Given the description of an element on the screen output the (x, y) to click on. 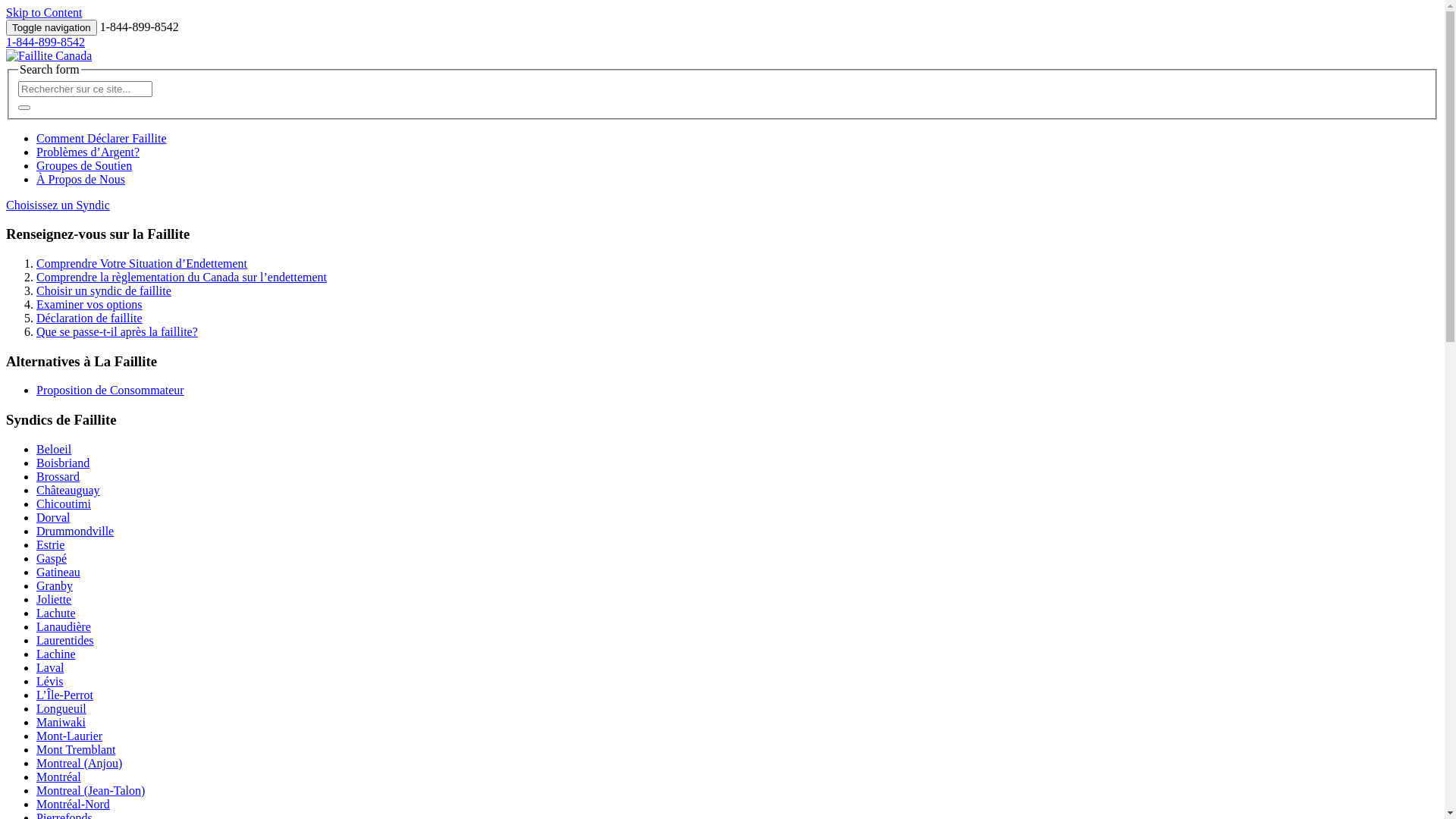
Proposition de Consommateur Element type: text (110, 389)
Laval Element type: text (49, 667)
Choisir un syndic de faillite Element type: text (103, 290)
Mont Tremblant Element type: text (75, 749)
Montreal (Anjou) Element type: text (79, 762)
1-844-899-8542 Element type: text (45, 41)
Lachute Element type: text (55, 612)
Drummondville Element type: text (74, 530)
Chicoutimi Element type: text (63, 503)
Gatineau Element type: text (58, 571)
Examiner vos options Element type: text (89, 304)
Brossard Element type: text (57, 476)
Boisbriand Element type: text (62, 462)
Joliette Element type: text (53, 599)
Montreal (Jean-Talon) Element type: text (90, 790)
Skip to Content Element type: text (43, 12)
Groupes de Soutien Element type: text (83, 165)
Search Element type: hover (85, 89)
Toggle navigation Element type: text (51, 27)
Estrie Element type: text (50, 544)
Granby Element type: text (54, 585)
Beloeil Element type: text (53, 448)
Lachine Element type: text (55, 653)
Mont-Laurier Element type: text (69, 735)
Dorval Element type: text (52, 517)
Longueuil Element type: text (61, 708)
Maniwaki Element type: text (60, 721)
Choisissez un Syndic Element type: text (57, 204)
Laurentides Element type: text (65, 639)
